Given the description of an element on the screen output the (x, y) to click on. 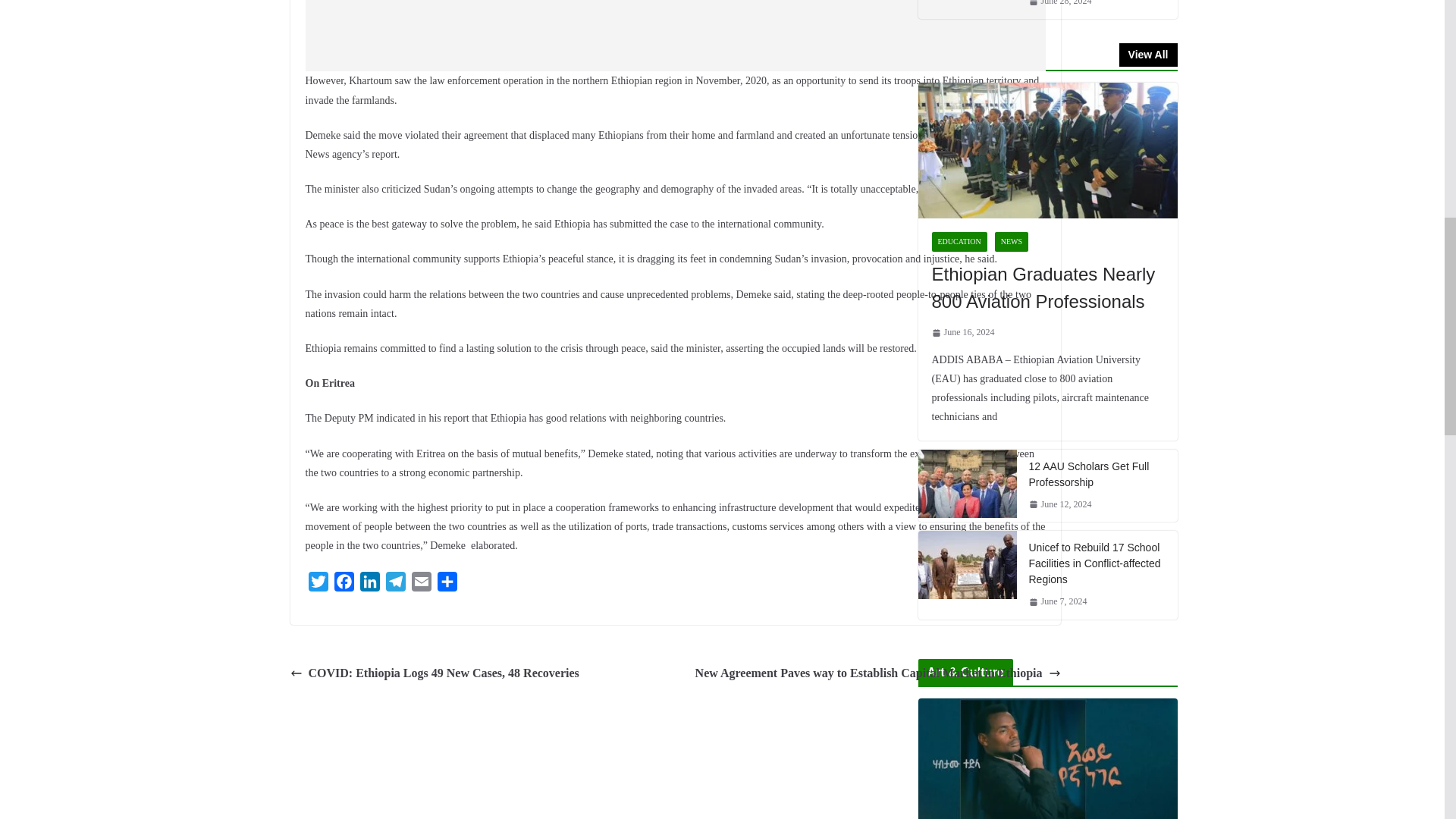
Facebook (343, 584)
LinkedIn (368, 584)
Facebook (343, 584)
Telegram (394, 584)
Email (420, 584)
Twitter (317, 584)
Email (420, 584)
Advertisement (674, 35)
Twitter (317, 584)
Telegram (394, 584)
COVID: Ethiopia Logs 49 New Cases, 48 Recoveries (433, 673)
LinkedIn (368, 584)
